Given the description of an element on the screen output the (x, y) to click on. 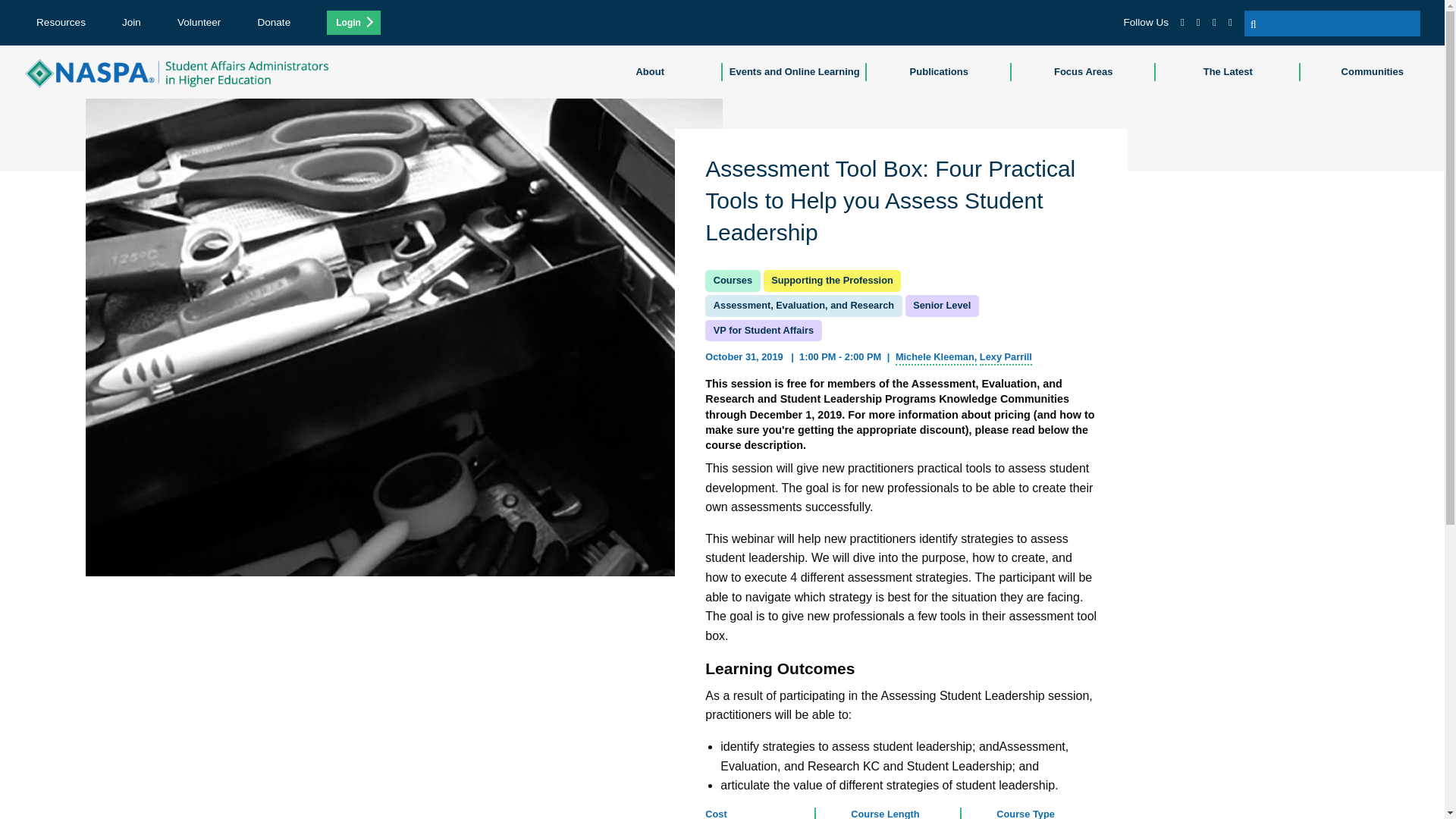
Join (131, 21)
Events and Online Learning (794, 71)
Resources (60, 21)
Volunteer (199, 21)
Login (353, 22)
About (650, 71)
Donate (273, 21)
